Given the description of an element on the screen output the (x, y) to click on. 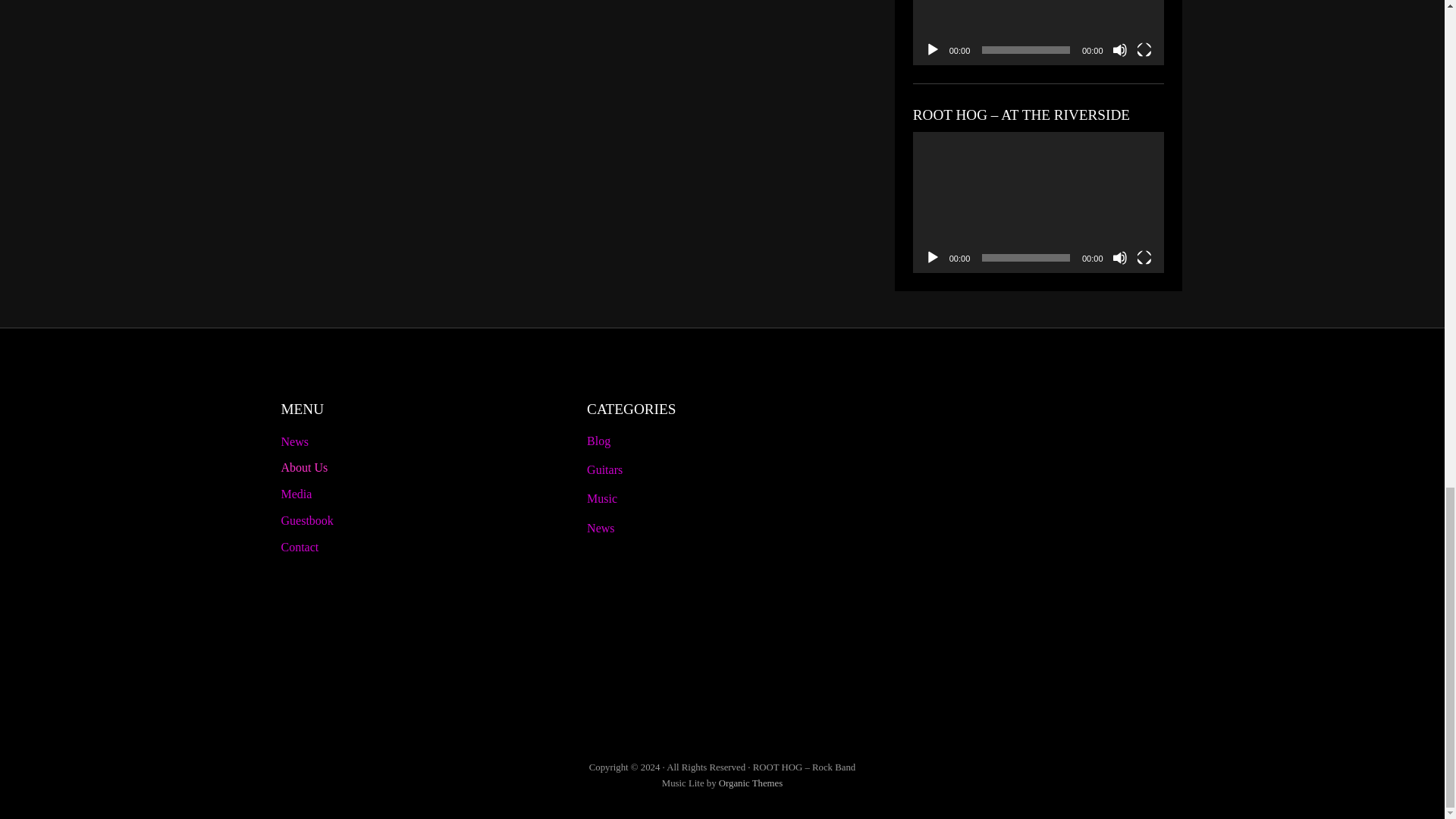
Play (932, 49)
Fullscreen (1143, 49)
Mute (1119, 49)
News (415, 441)
Play (932, 257)
Mute (1119, 257)
Fullscreen (1143, 257)
Media (415, 495)
About Us (415, 468)
